Given the description of an element on the screen output the (x, y) to click on. 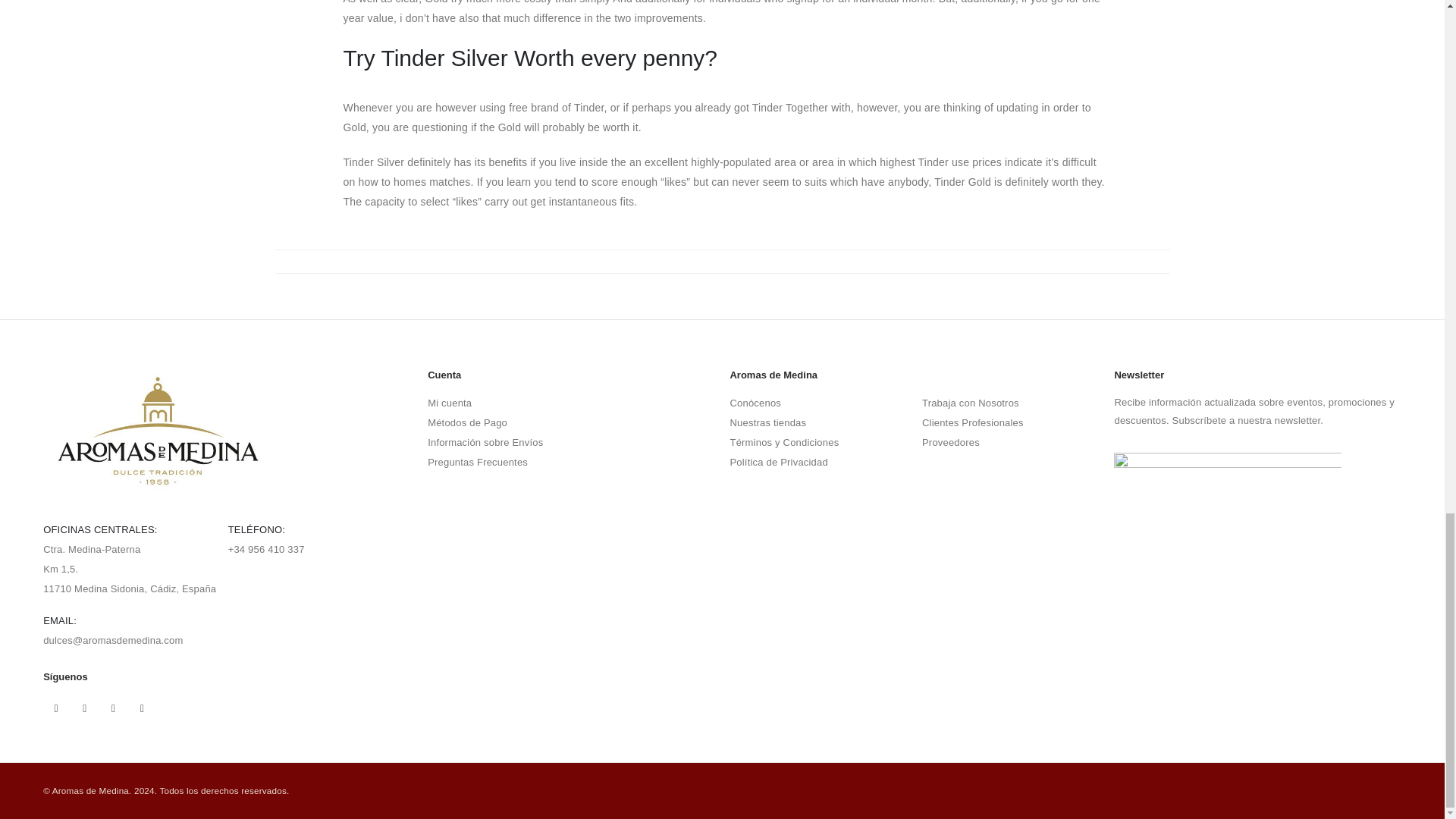
Facebook (55, 707)
Twitter (85, 707)
Linkedin (142, 707)
Instagram (113, 707)
About us (754, 402)
